Given the description of an element on the screen output the (x, y) to click on. 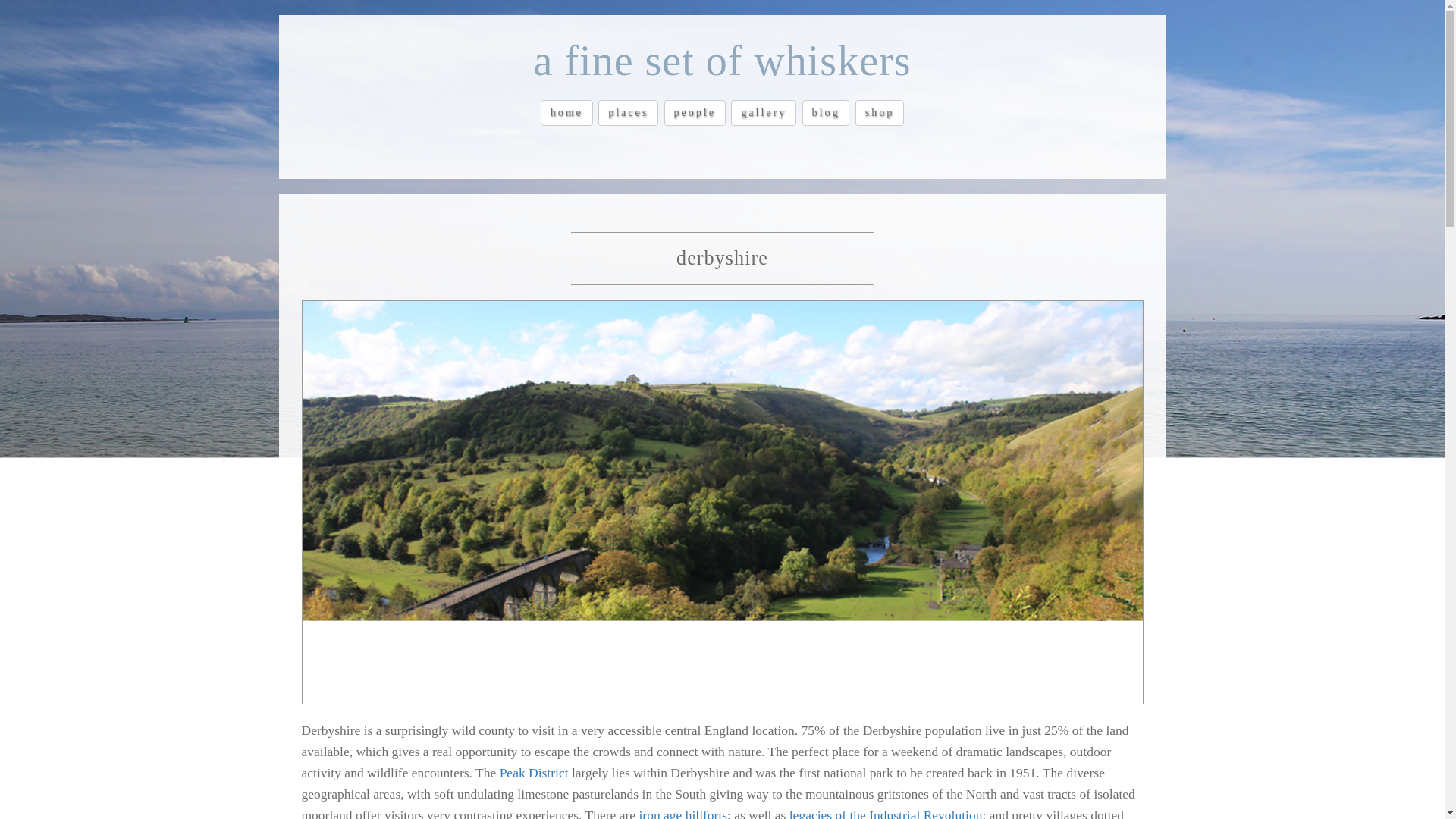
Peak District (534, 772)
blog (826, 112)
gallery (763, 112)
iron age hillforts (682, 813)
legacies of the Industrial Revolution (885, 813)
places (628, 112)
shop (880, 112)
people (694, 112)
home (566, 112)
